Given the description of an element on the screen output the (x, y) to click on. 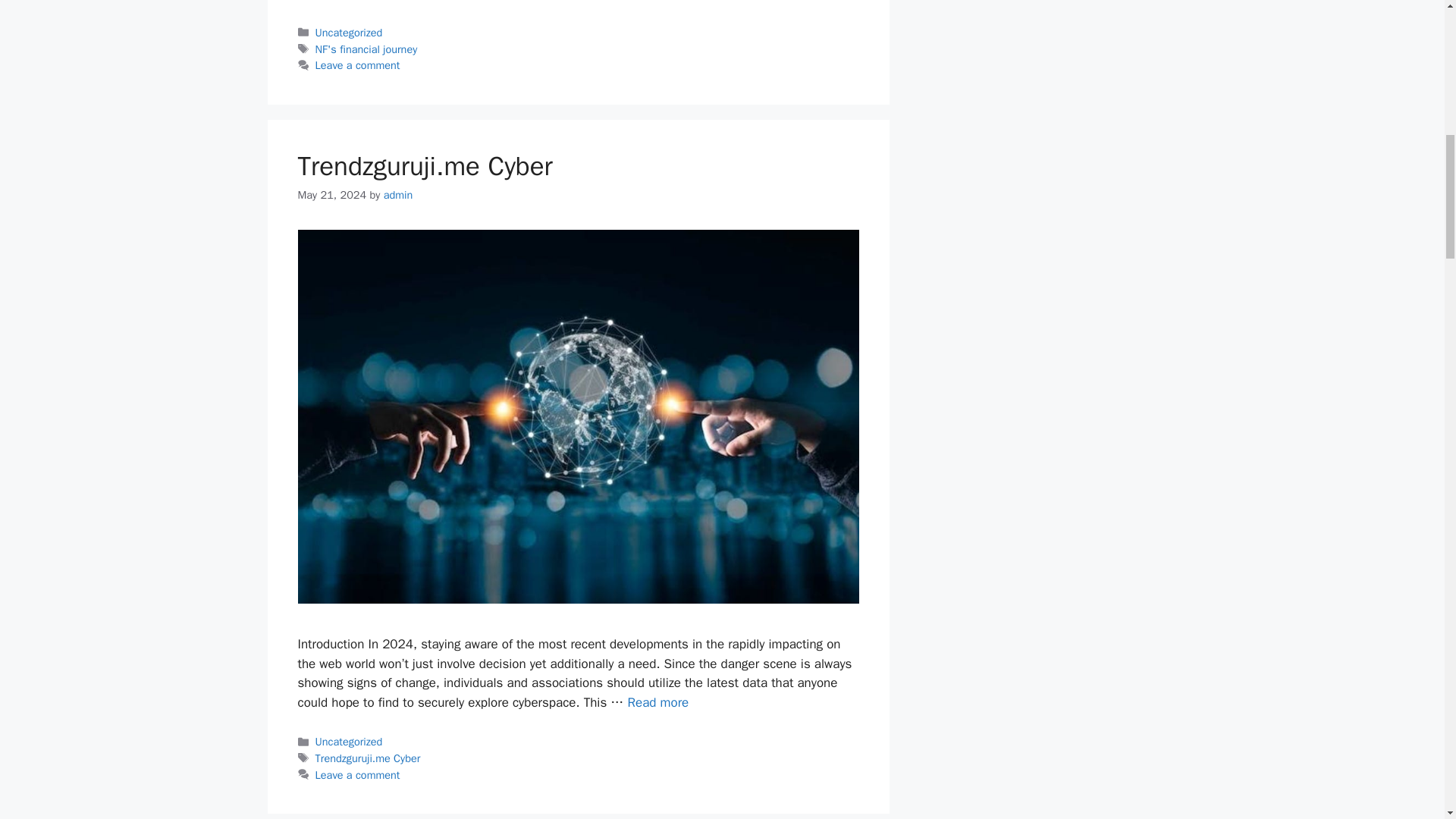
Uncategorized (348, 741)
Leave a comment (357, 775)
Read more (531, 0)
View all posts by admin (398, 194)
Read more (657, 702)
NF's financial journey (366, 49)
Uncategorized (348, 32)
Trendzguruji.me Cyber (367, 757)
Leave a comment (357, 65)
Trendzguruji.me Cyber (657, 702)
